Given the description of an element on the screen output the (x, y) to click on. 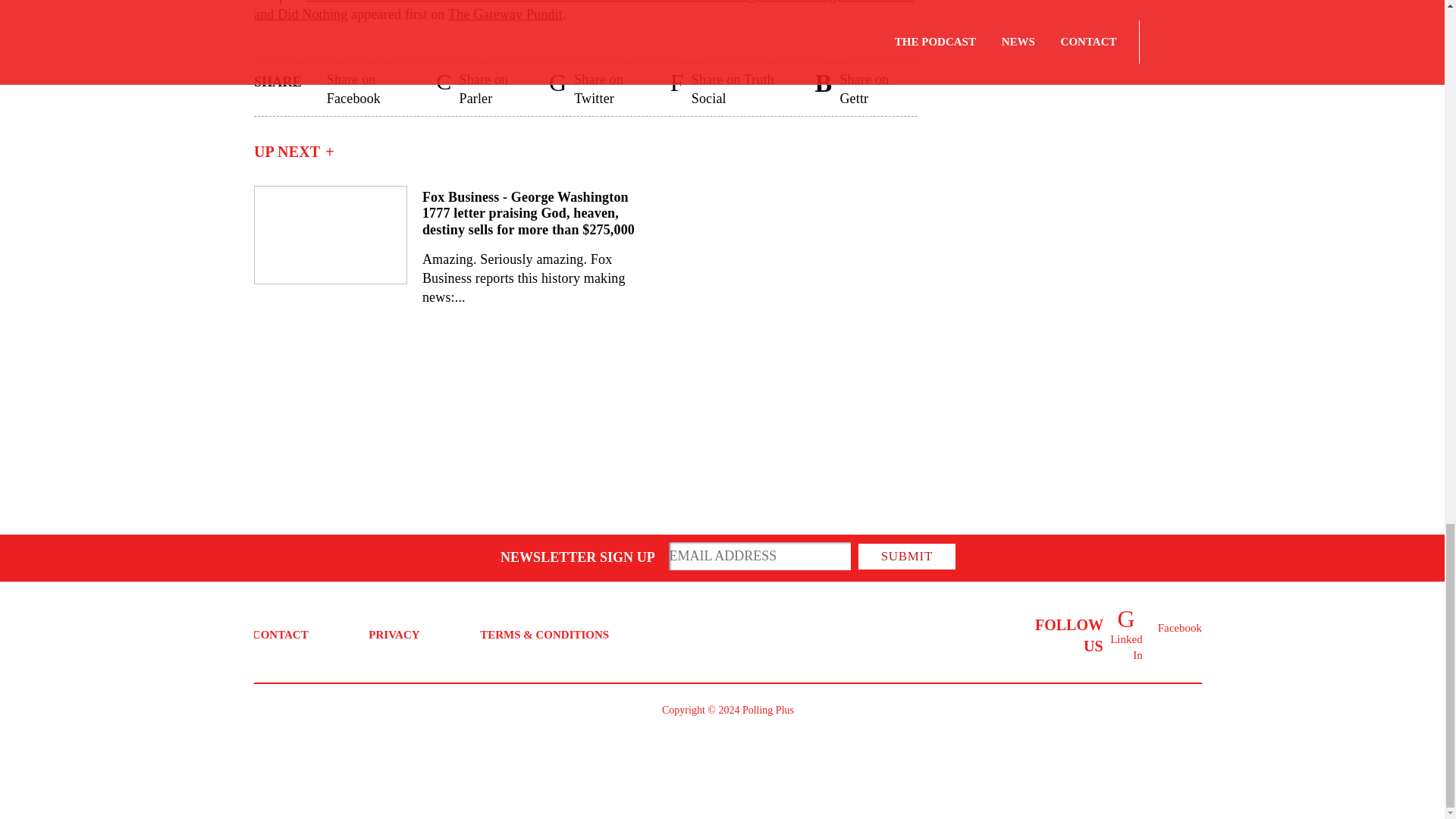
The Gateway Pundit (505, 14)
Facebook (1149, 623)
Share on Gettr (824, 89)
Share on Parler (443, 89)
PRIVACY (393, 634)
Share on Facebook (318, 89)
Linked In (1125, 618)
Share on Truth Social (676, 89)
Submit (907, 556)
Share on Twitter (557, 89)
Submit (907, 556)
CONTACT (279, 634)
